Given the description of an element on the screen output the (x, y) to click on. 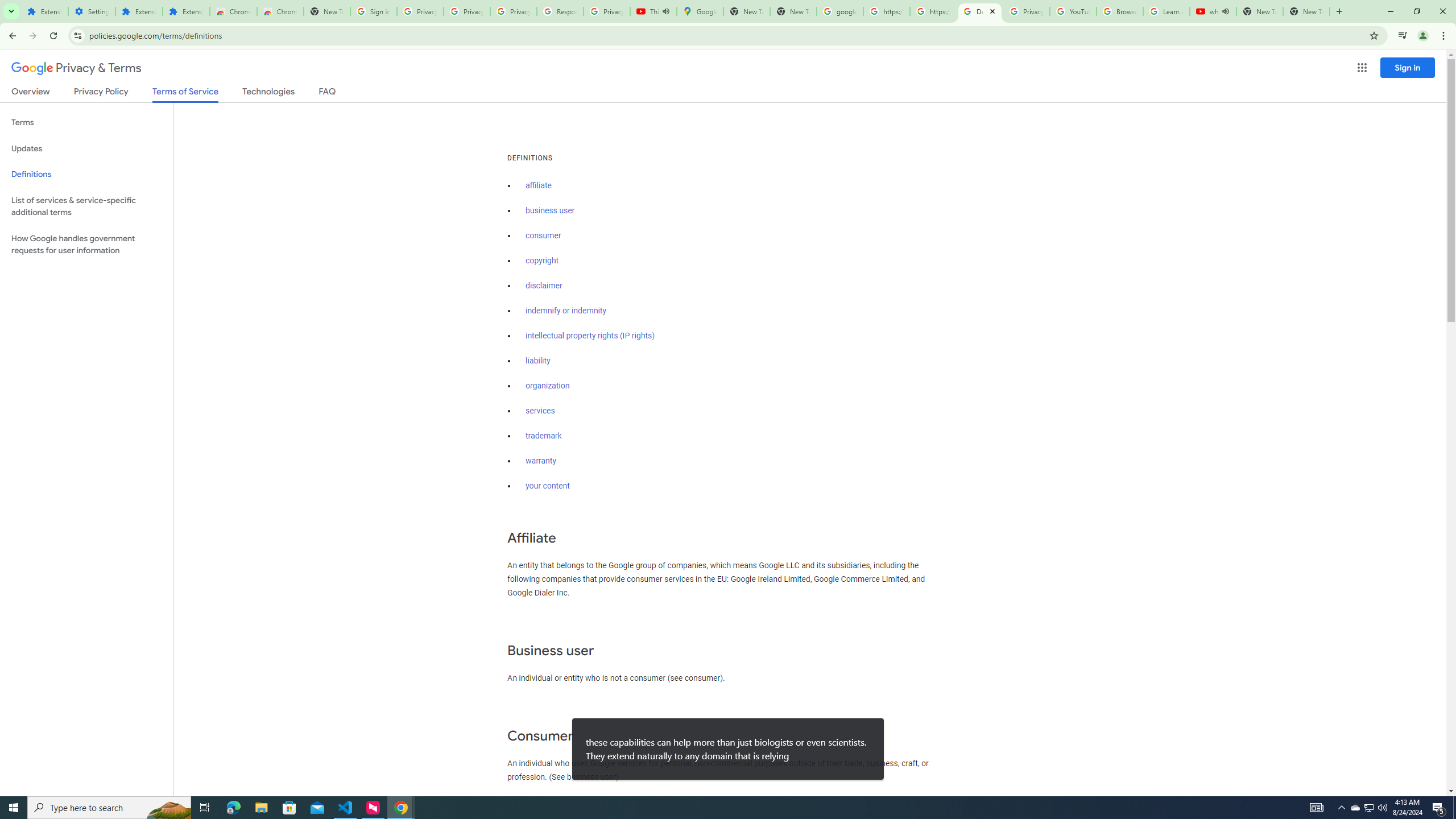
your content (547, 486)
https://scholar.google.com/ (933, 11)
organization (547, 385)
Extensions (44, 11)
Google Maps (699, 11)
